Given the description of an element on the screen output the (x, y) to click on. 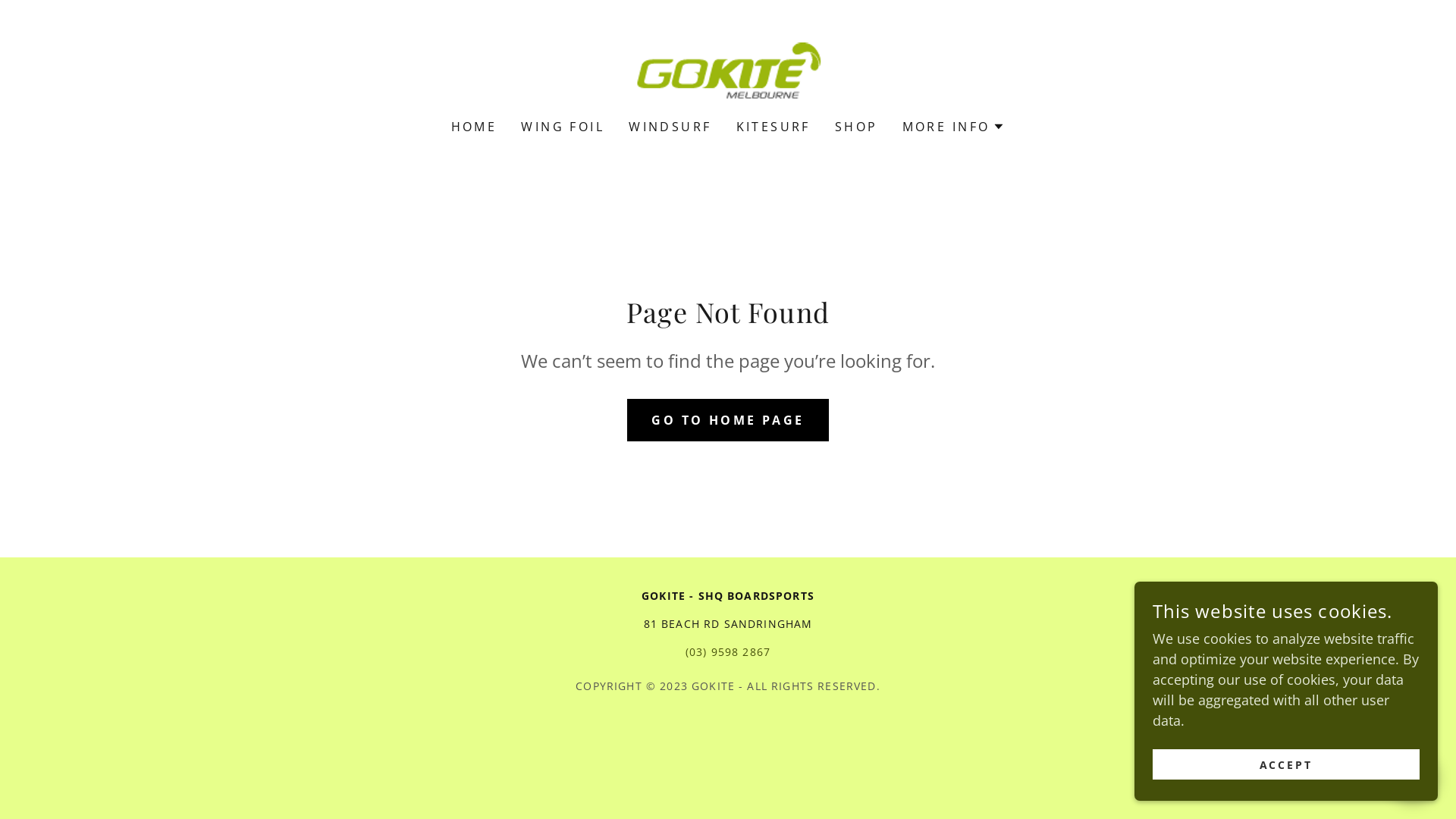
SHOP Element type: text (856, 126)
ACCEPT Element type: text (1285, 764)
(03) 9598 2867 Element type: text (727, 651)
KITESURF Element type: text (772, 126)
MORE INFO Element type: text (953, 126)
WING FOIL Element type: text (562, 126)
WINDSURF Element type: text (669, 126)
Gokite Element type: hover (727, 68)
GO TO HOME PAGE Element type: text (727, 419)
HOME Element type: text (474, 126)
